Given the description of an element on the screen output the (x, y) to click on. 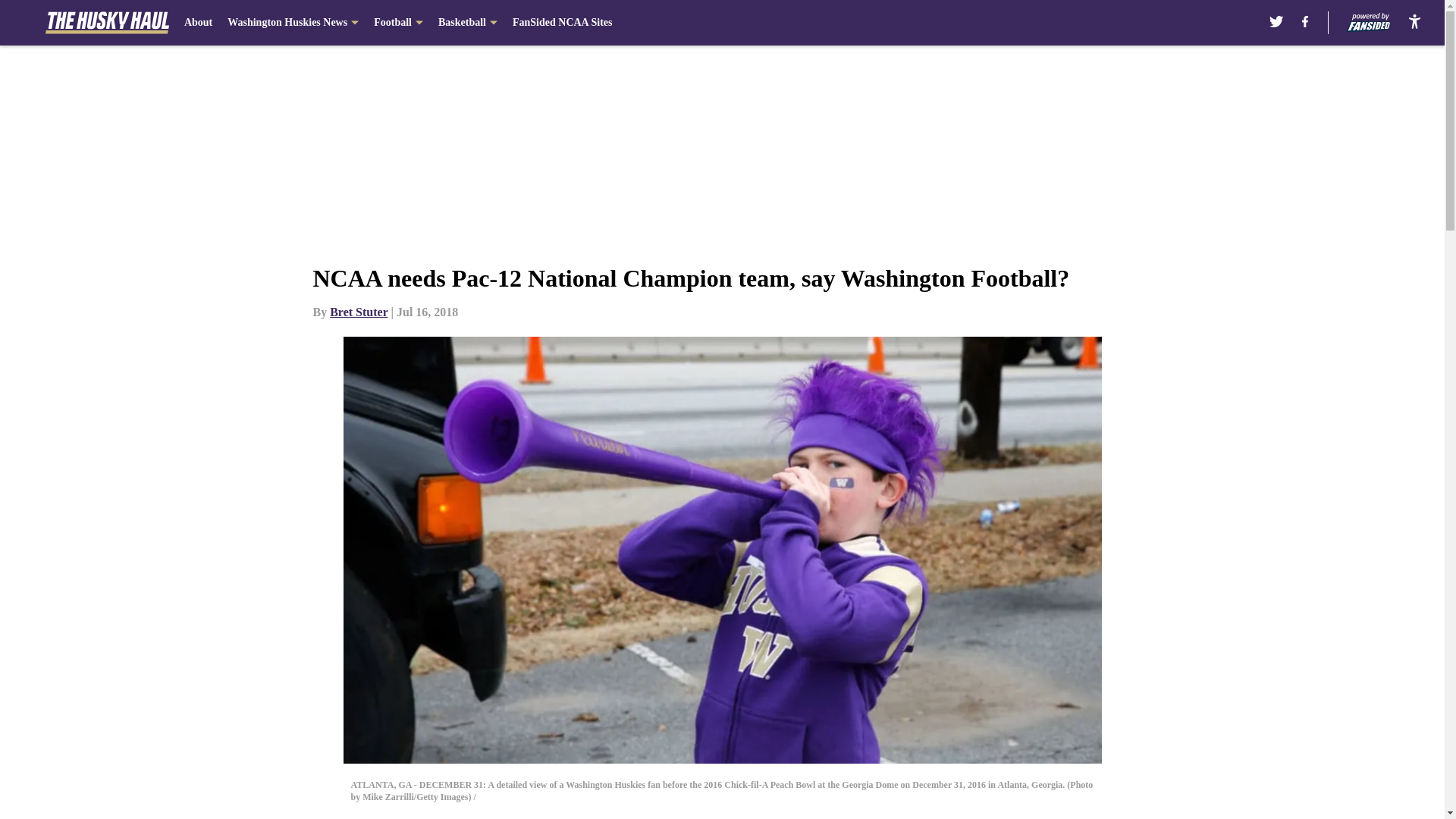
FanSided NCAA Sites (561, 22)
Bret Stuter (358, 311)
About (198, 22)
